Given the description of an element on the screen output the (x, y) to click on. 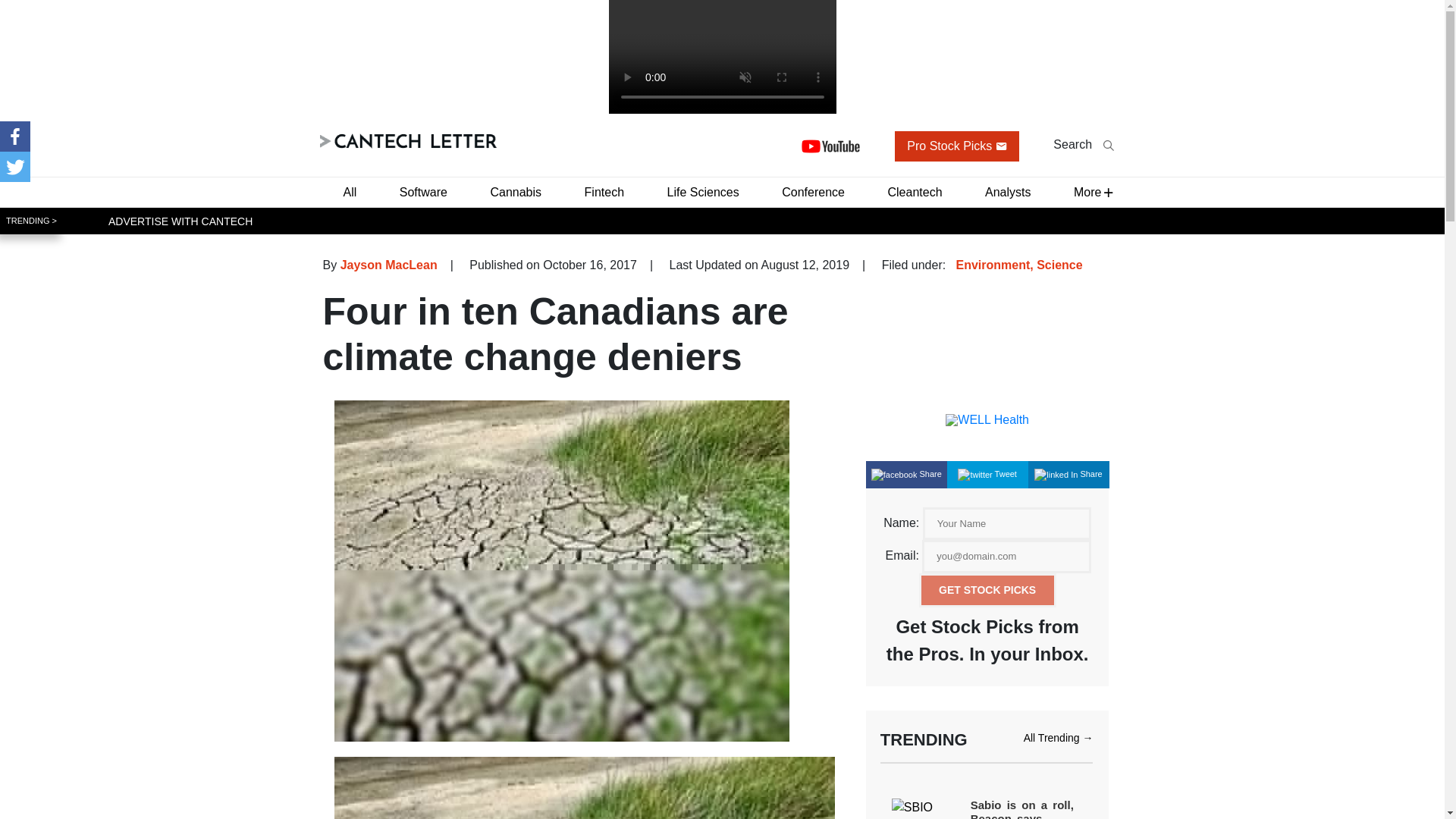
Conference (813, 191)
Cannabis (515, 191)
Twitter (15, 166)
ADVERTISE WITH CANTECH (180, 220)
Environment (992, 264)
More (1087, 191)
Facebook (15, 136)
Cleantech (914, 191)
Science (1058, 264)
Analysts (1007, 191)
